Given the description of an element on the screen output the (x, y) to click on. 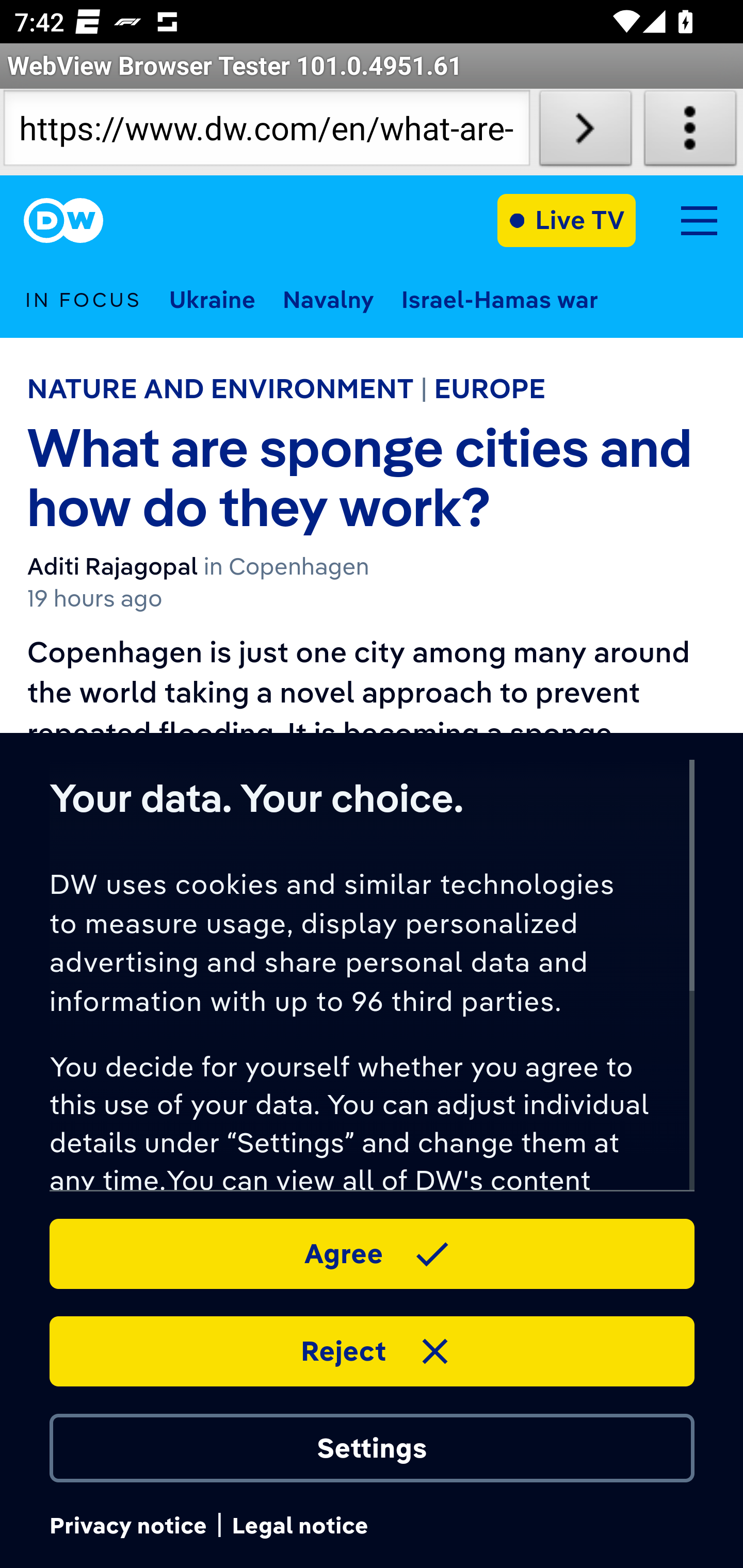
Load URL (585, 132)
About WebView (690, 132)
Open main navigation (699, 219)
Live TV (566, 219)
dw.com home - Made for minds (62, 220)
Ukraine (211, 299)
Navalny (328, 299)
Israel-Hamas war (500, 299)
NATURE AND ENVIRONMENT (220, 388)
EUROPE (489, 388)
Agree (371, 1252)
Reject (371, 1349)
Settings (371, 1447)
Privacy notice (127, 1526)
Legal notice (300, 1526)
